Given the description of an element on the screen output the (x, y) to click on. 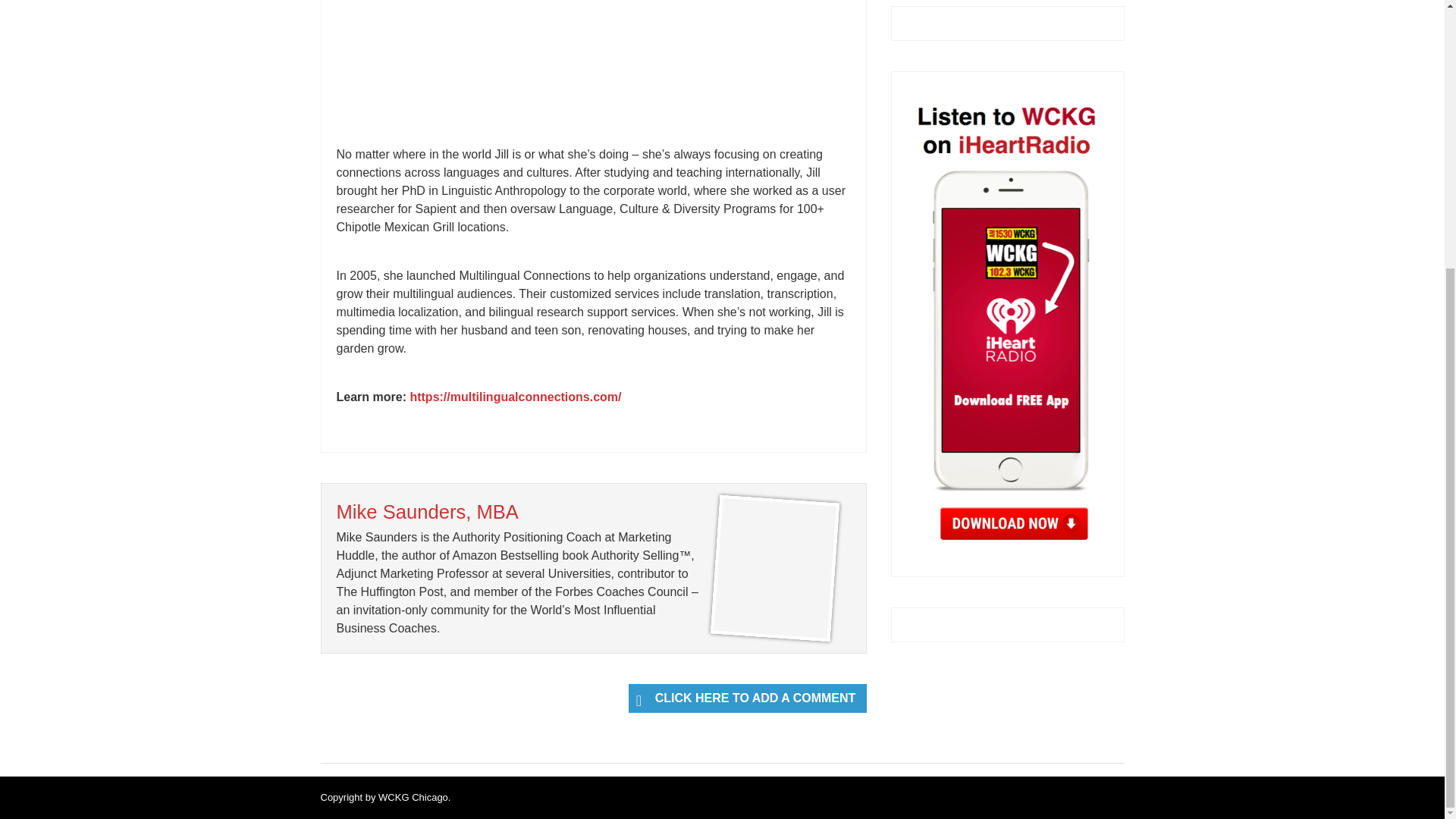
Mike Saunders, MBA (427, 511)
